Given the description of an element on the screen output the (x, y) to click on. 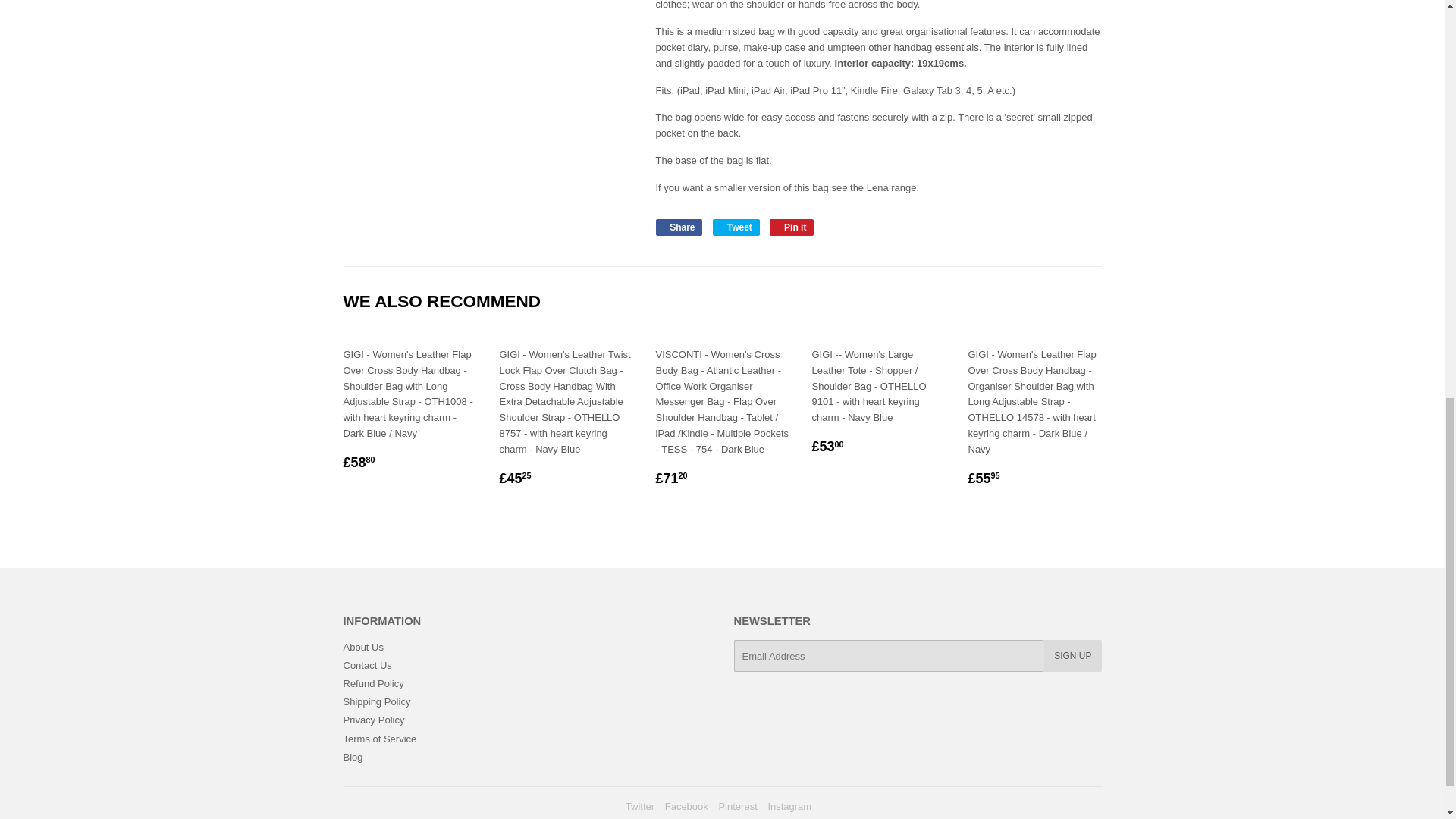
Share on Facebook (678, 227)
Pin on Pinterest (791, 227)
The Real Handbag Shop on Facebook (686, 806)
The Real Handbag Shop on Pinterest (737, 806)
Tweet on Twitter (736, 227)
The Real Handbag Shop on Instagram (788, 806)
The Real Handbag Shop on Twitter (639, 806)
